Given the description of an element on the screen output the (x, y) to click on. 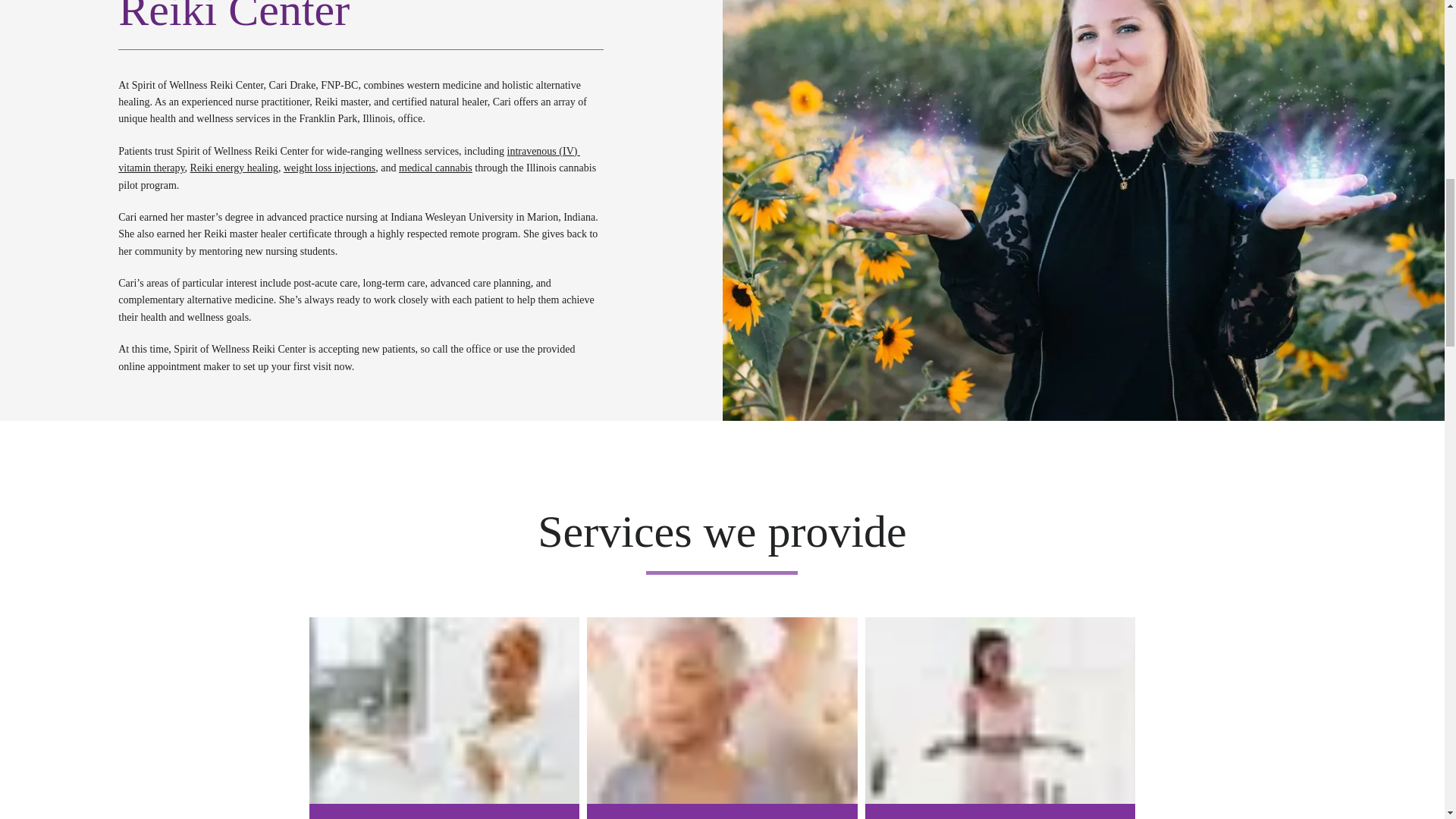
Reiki energy healing (234, 167)
weight loss injections (329, 167)
medical cannabis (434, 167)
